Given the description of an element on the screen output the (x, y) to click on. 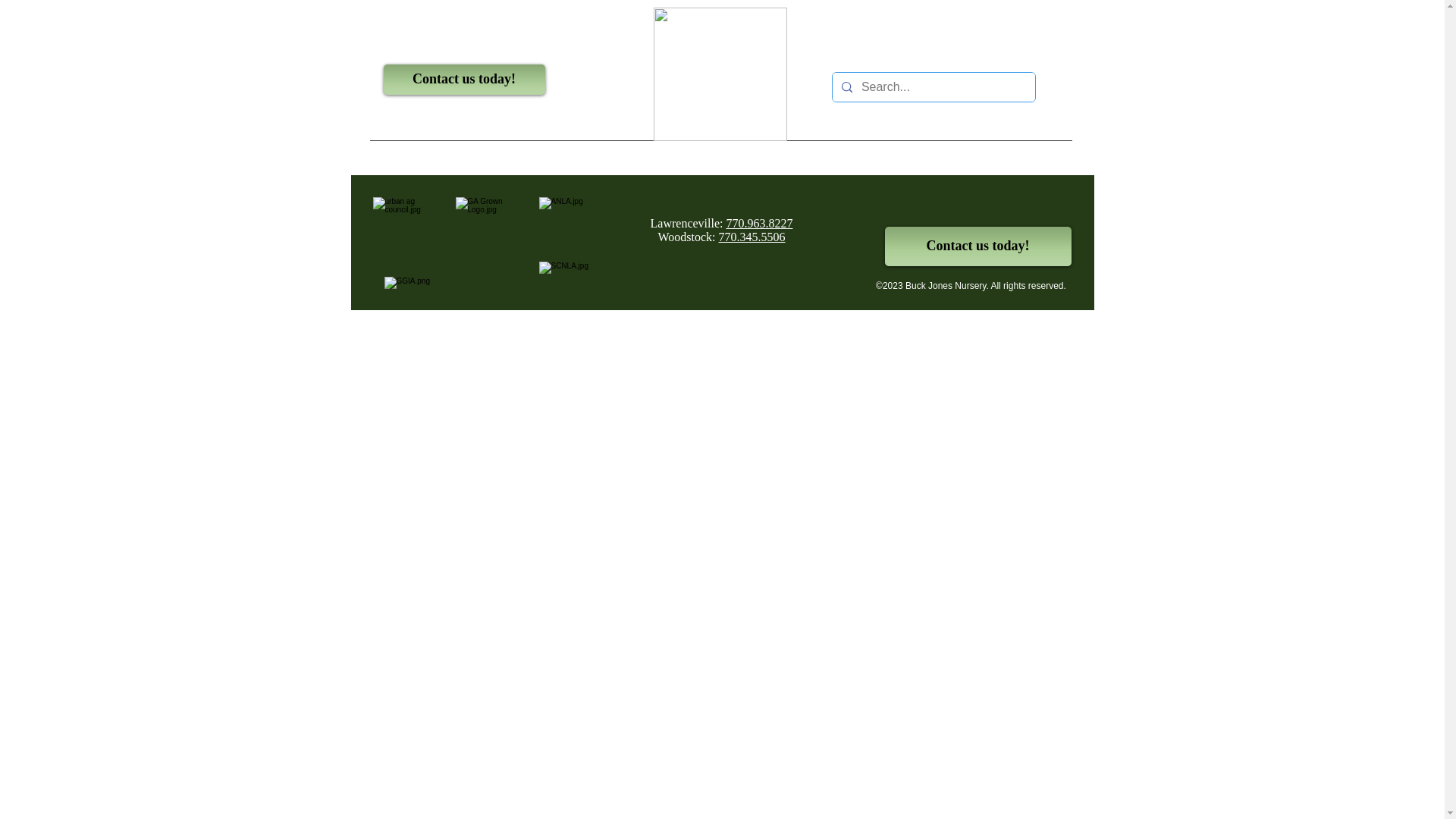
Contact us today! (464, 79)
770.345.5506 (752, 236)
770.963.8227 (758, 223)
Contact us today! (976, 246)
